Given the description of an element on the screen output the (x, y) to click on. 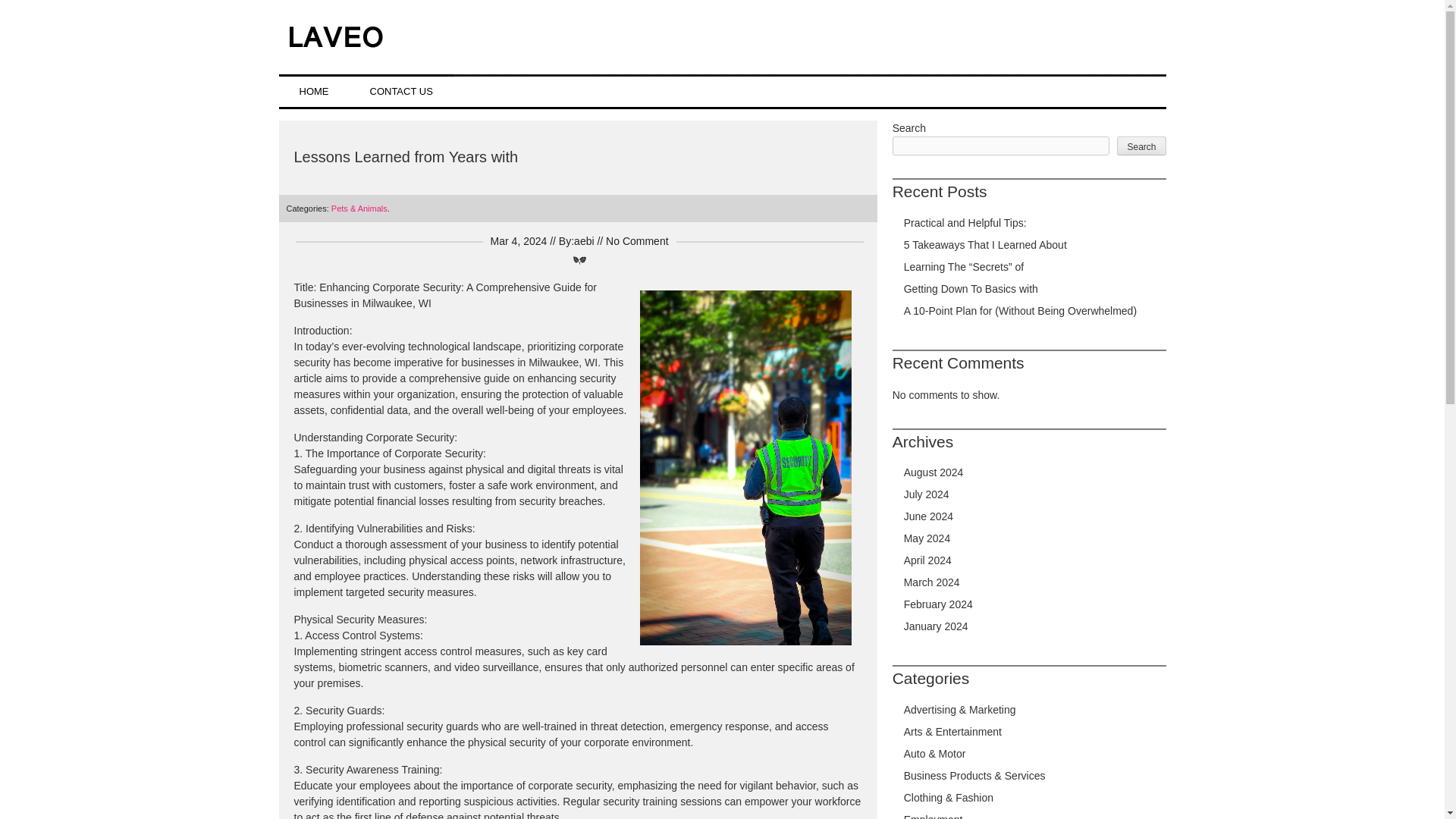
June 2024 (928, 516)
CONTACT US (400, 90)
HOME (314, 90)
July 2024 (926, 494)
May 2024 (927, 538)
Search (1141, 146)
Practical and Helpful Tips: (965, 223)
January 2024 (936, 625)
Employment (933, 816)
Getting Down To Basics with (971, 288)
